Given the description of an element on the screen output the (x, y) to click on. 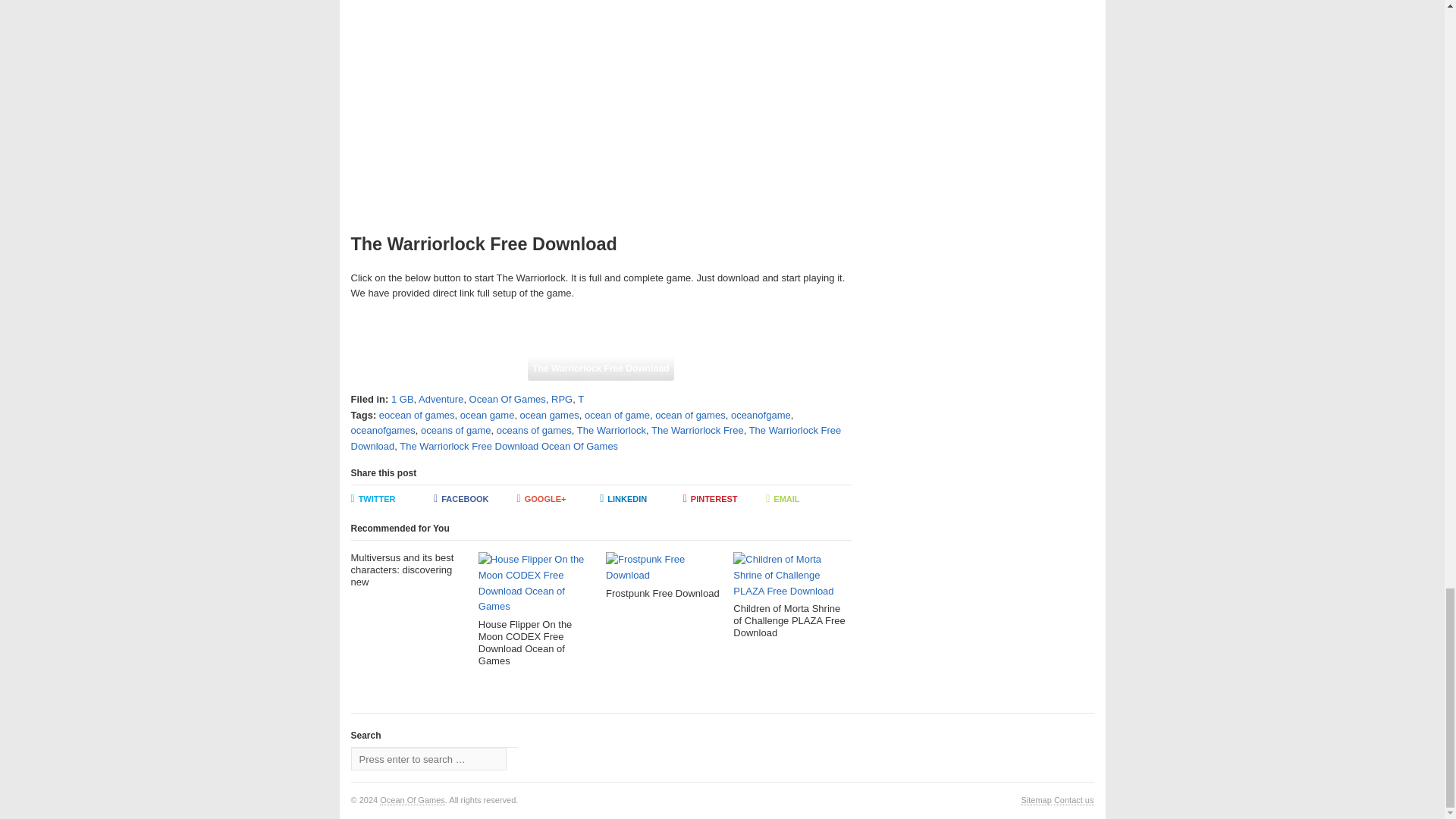
ocean game (487, 414)
The Warriorlock Free Download (599, 368)
RPG (561, 398)
Ocean Of Games (507, 398)
Search for: (427, 758)
Size: 914.8MB (599, 368)
Ocean Of Games (412, 800)
Adventure (441, 398)
eocean of games (416, 414)
1 GB (402, 398)
